Given the description of an element on the screen output the (x, y) to click on. 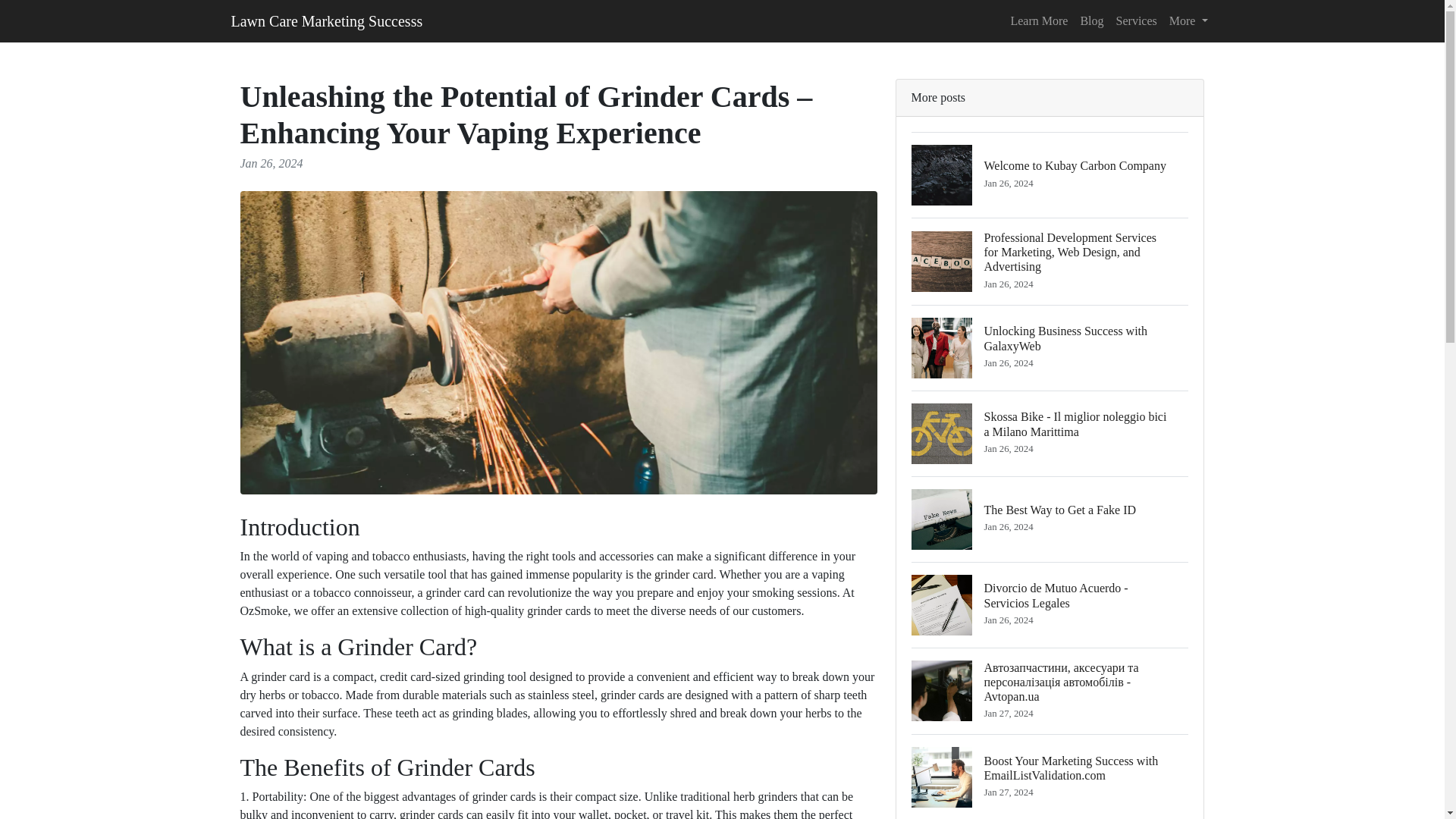
grinder card (683, 574)
More (1188, 20)
Services (1050, 347)
Learn More (1136, 20)
